Given the description of an element on the screen output the (x, y) to click on. 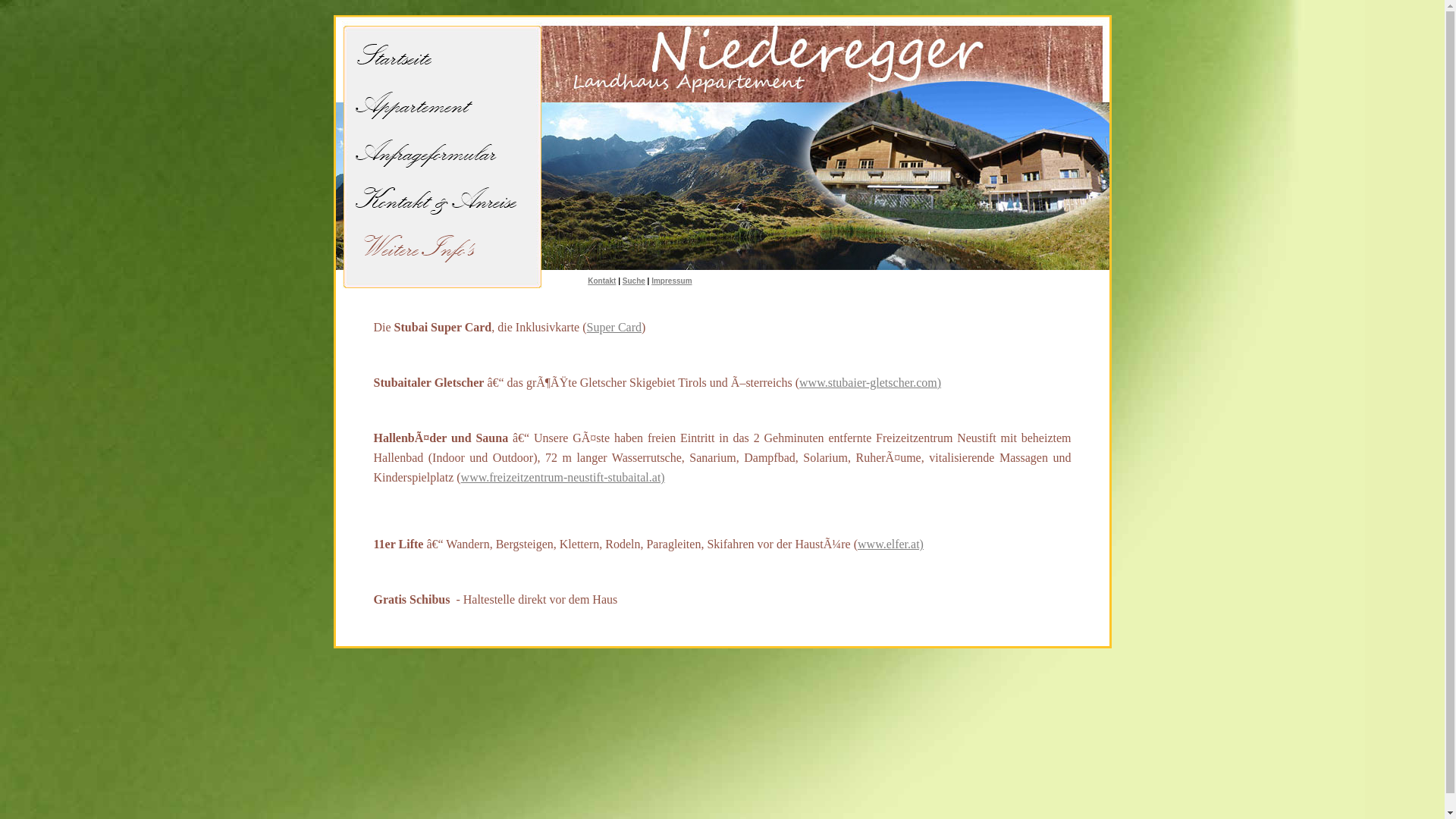
Kontakt Element type: text (601, 280)
www.elfer.at) Element type: text (890, 543)
www.freizeitzentrum-neustift-stubaital.at) Element type: text (563, 476)
Super Card Element type: text (613, 326)
Suche Element type: text (633, 280)
Impressum Element type: text (671, 280)
www.stubaier-gletscher.com) Element type: text (870, 382)
